Given the description of an element on the screen output the (x, y) to click on. 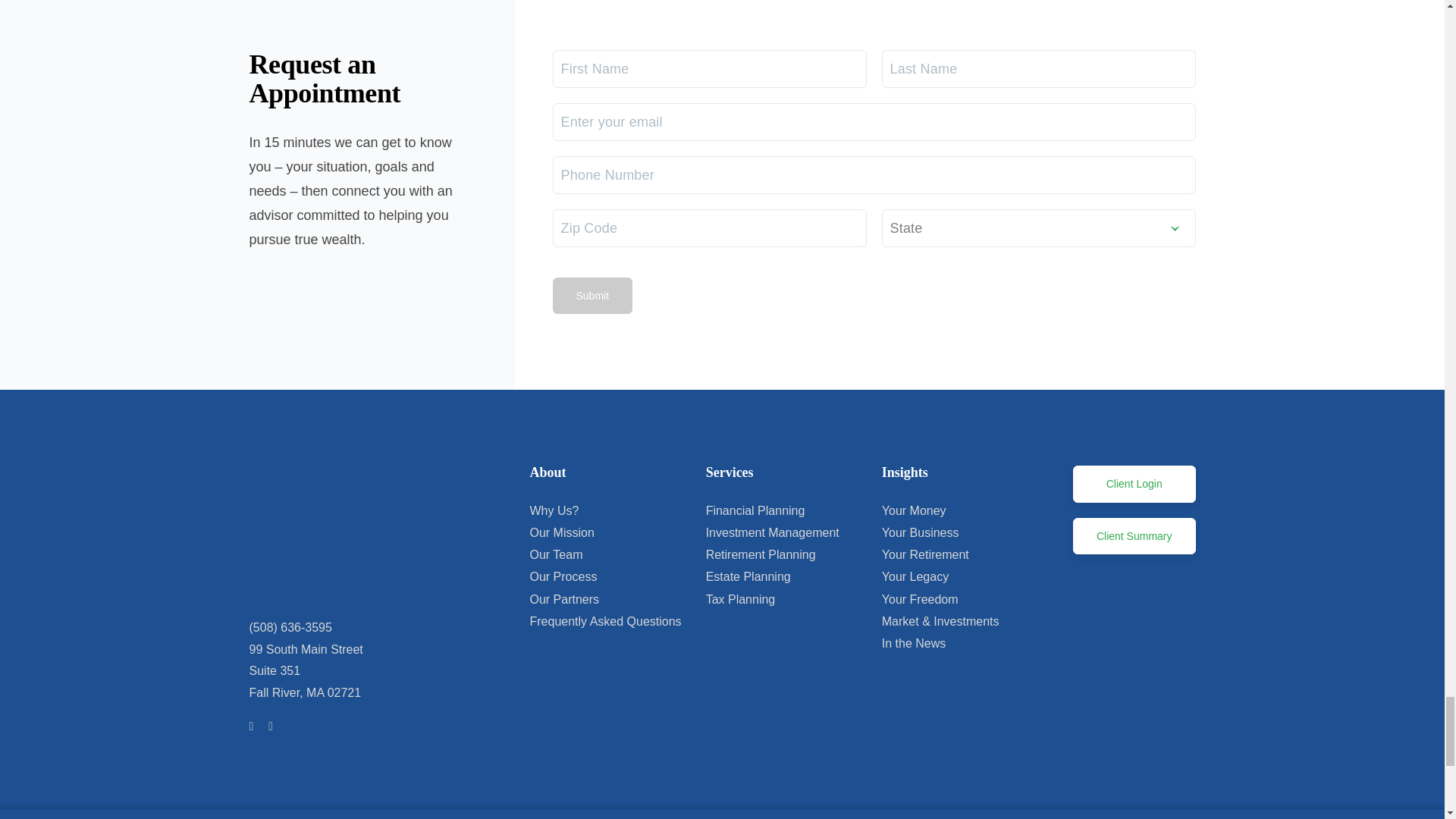
Submit (591, 295)
